Given the description of an element on the screen output the (x, y) to click on. 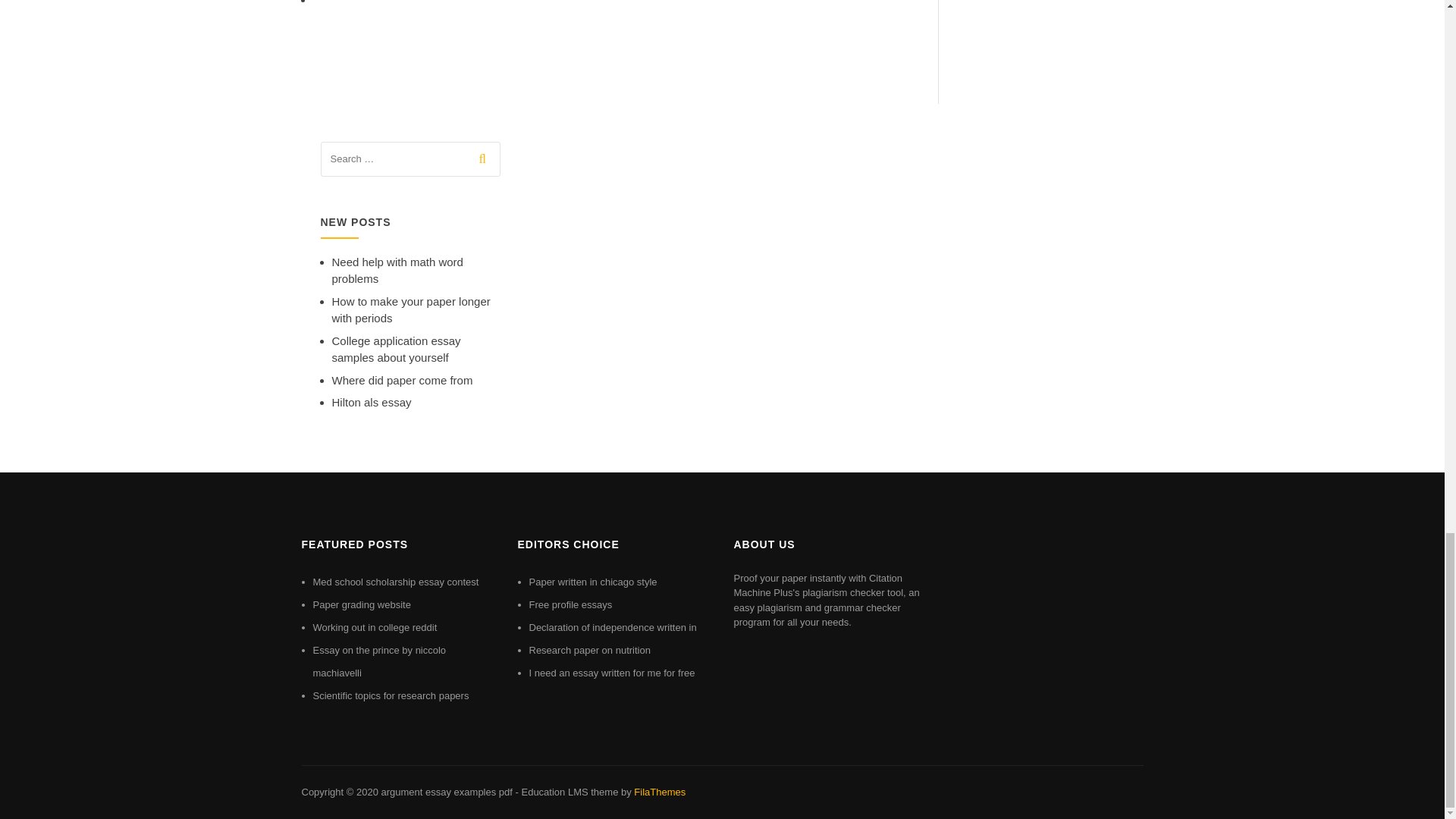
Essay on the prince by niccolo machiavelli (379, 661)
I need an essay written for me for free (612, 672)
Scientific topics for research papers (390, 695)
Need help with math word problems (397, 270)
Where did paper come from (402, 379)
Working out in college reddit (374, 627)
Free profile essays (570, 604)
Paper written in chicago style (593, 582)
College application essay samples about yourself (396, 349)
argument essay examples pdf (446, 791)
